Given the description of an element on the screen output the (x, y) to click on. 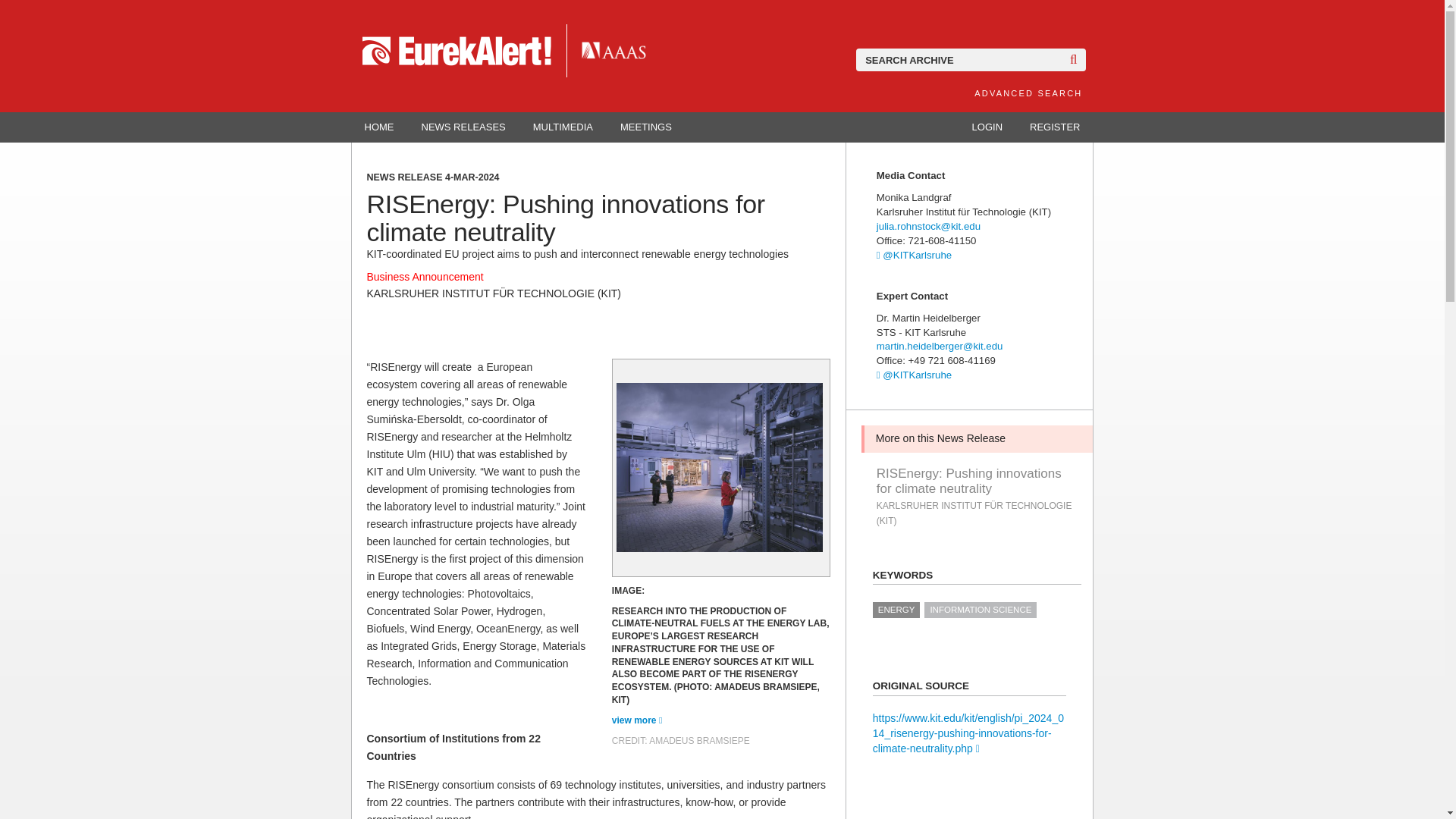
MULTIMEDIA (563, 127)
LOGIN (987, 127)
ENERGY (896, 609)
MEETINGS (646, 127)
RISEnergy: Pushing innovations for climate neutrality (977, 481)
HOME (378, 127)
REGISTER (1054, 127)
INFORMATION SCIENCE (980, 609)
ADVANCED SEARCH (1027, 92)
NEWS RELEASES (463, 127)
